Given the description of an element on the screen output the (x, y) to click on. 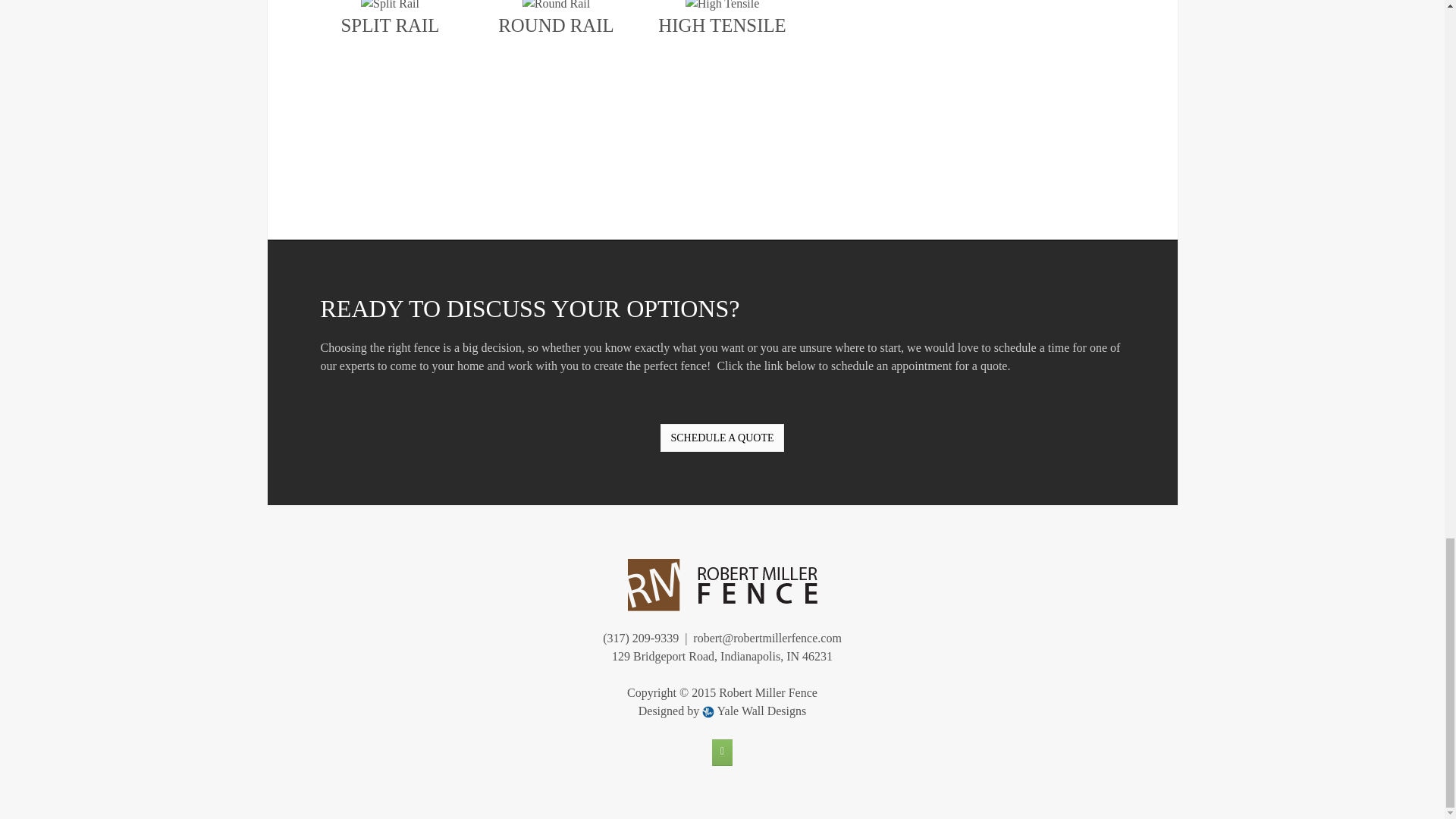
Designed by  Yale Wall Designs (722, 710)
SCHEDULE A QUOTE (722, 438)
